Given the description of an element on the screen output the (x, y) to click on. 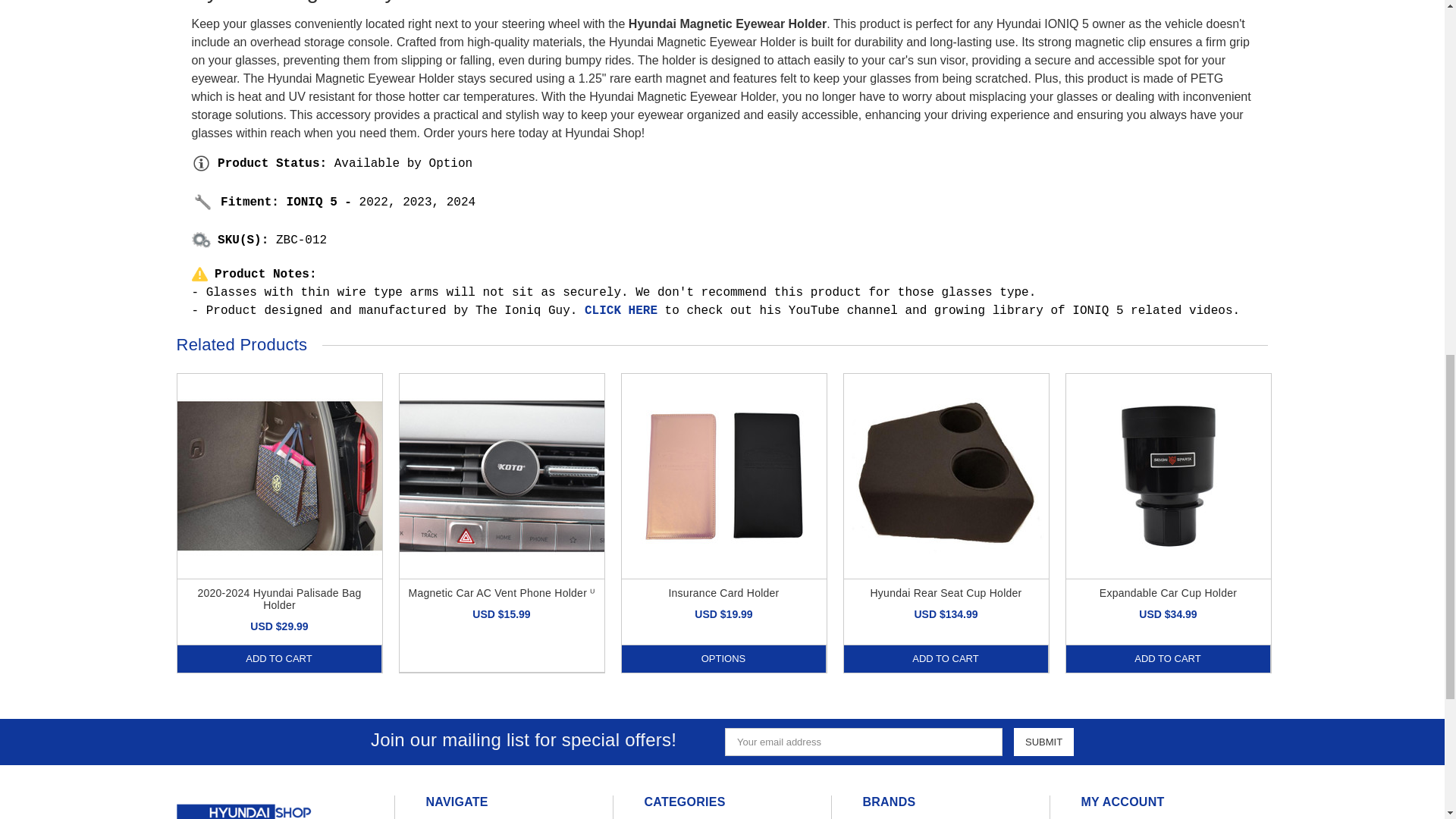
Hyundai Shop (244, 803)
Insurance Card Holder (724, 475)
Magnetic Car AC Vent Phone Holder (501, 475)
Expandable Car Cup Holder (1168, 475)
Hyundai Rear Seat Cup Holder (945, 475)
Submit (1043, 741)
2020-2024 Hyundai Palisade Bag Holder (279, 475)
